Given the description of an element on the screen output the (x, y) to click on. 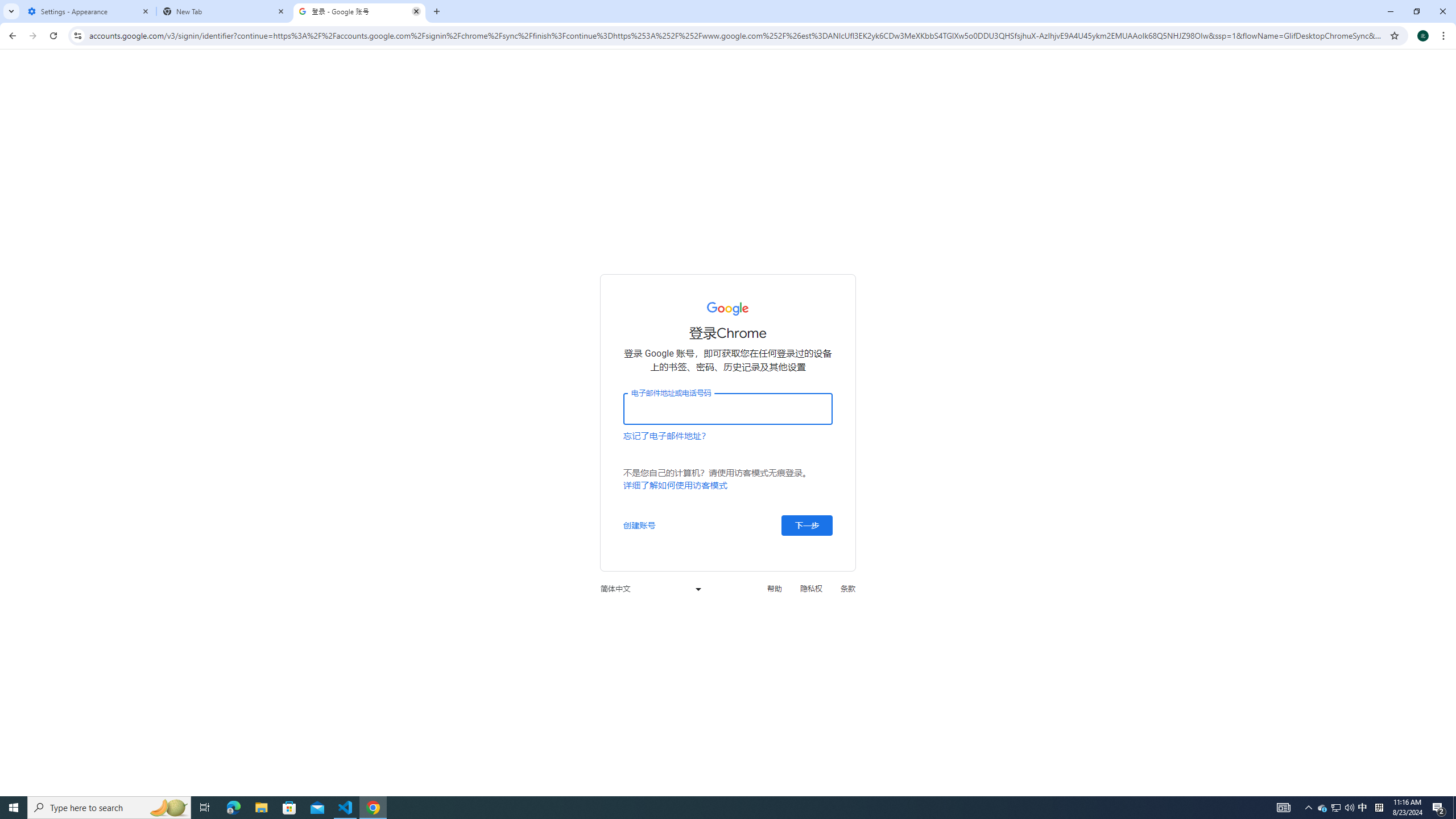
New Tab (224, 11)
